Given the description of an element on the screen output the (x, y) to click on. 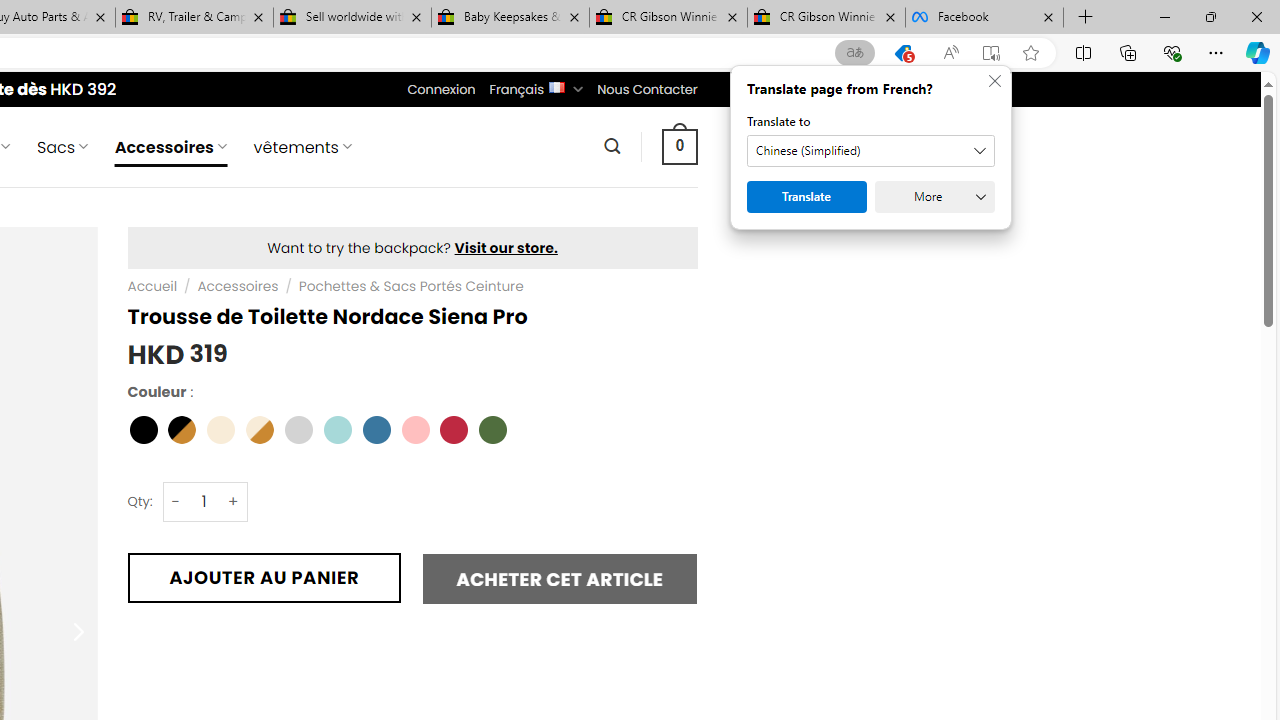
ACHETER CET ARTICLE (559, 578)
 0  (679, 146)
Enter Immersive Reader (F9) (991, 53)
This site has coupons! Shopping in Microsoft Edge, 5 (902, 53)
